Given the description of an element on the screen output the (x, y) to click on. 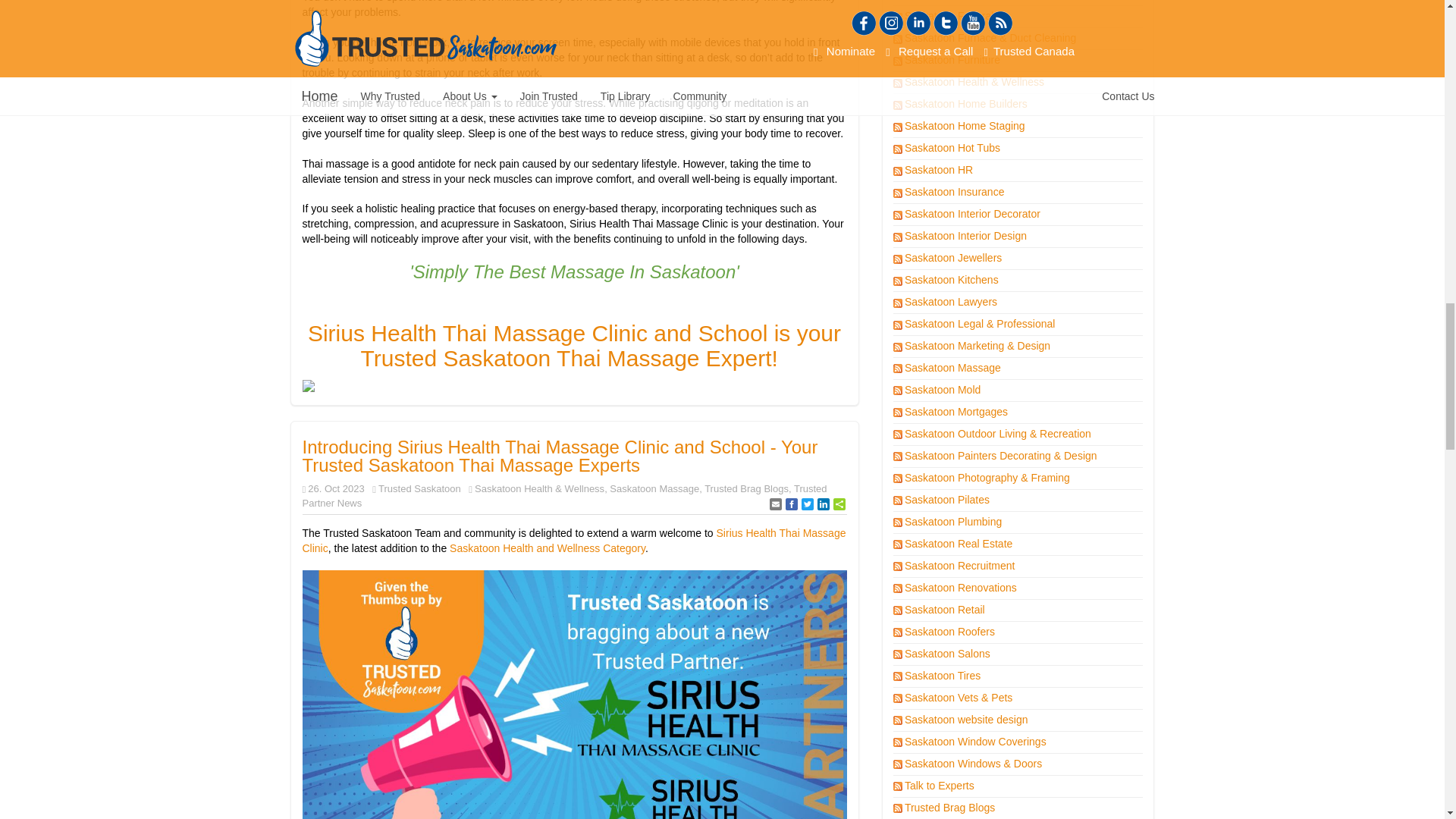
Trusted Saskatoon (419, 488)
Trusted Brag Blogs (746, 488)
Saskatoon Health and Wellness Category (547, 548)
Sirius Health Thai Massage Clinic (573, 540)
Trusted Partner News (564, 495)
Saskatoon Massage (654, 488)
